Given the description of an element on the screen output the (x, y) to click on. 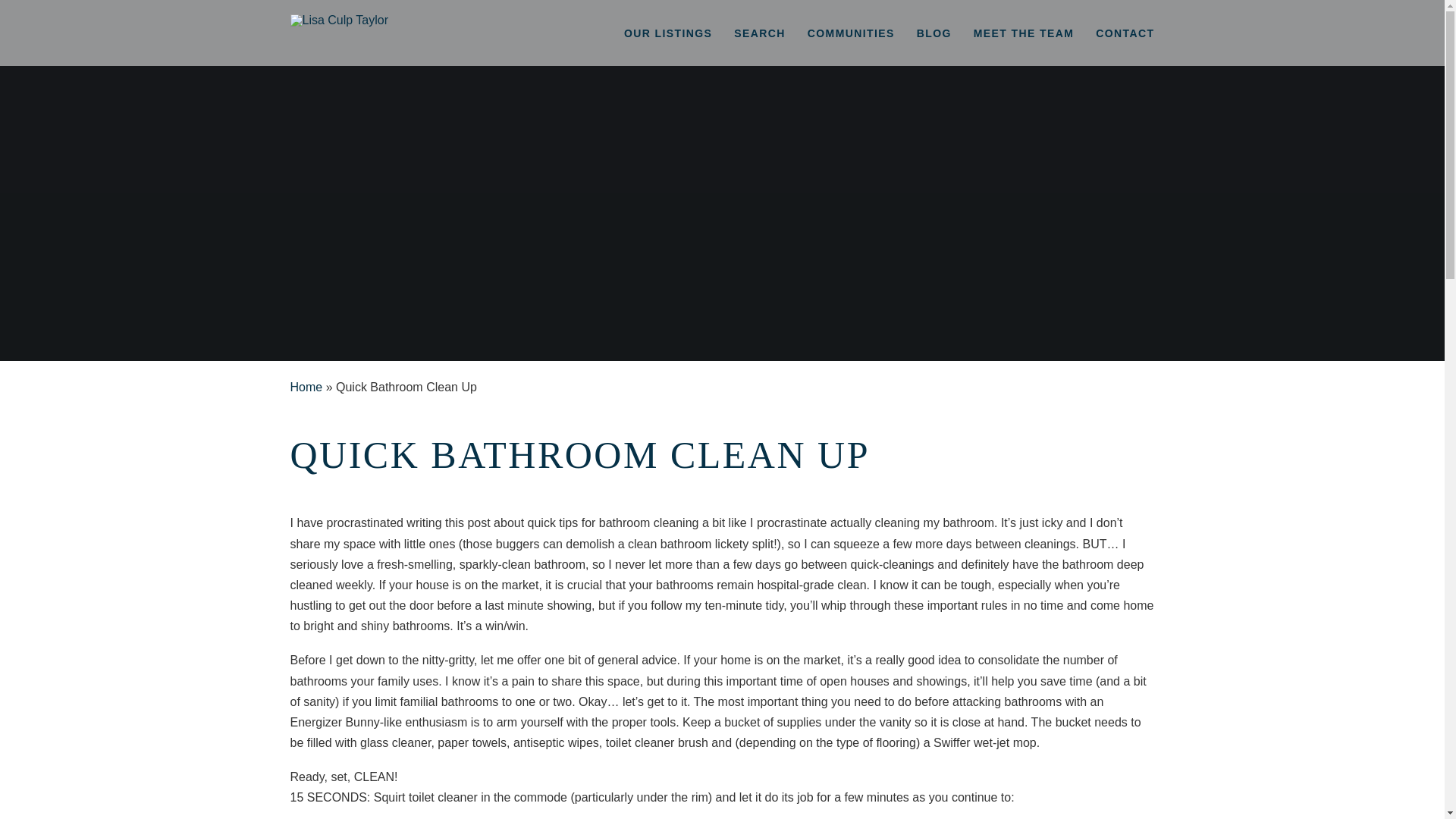
OUR LISTINGS (667, 33)
Home (305, 386)
COMMUNITIES (851, 33)
MEET THE TEAM (1024, 33)
BLOG (934, 33)
CONTACT (1125, 33)
SEARCH (759, 33)
